Given the description of an element on the screen output the (x, y) to click on. 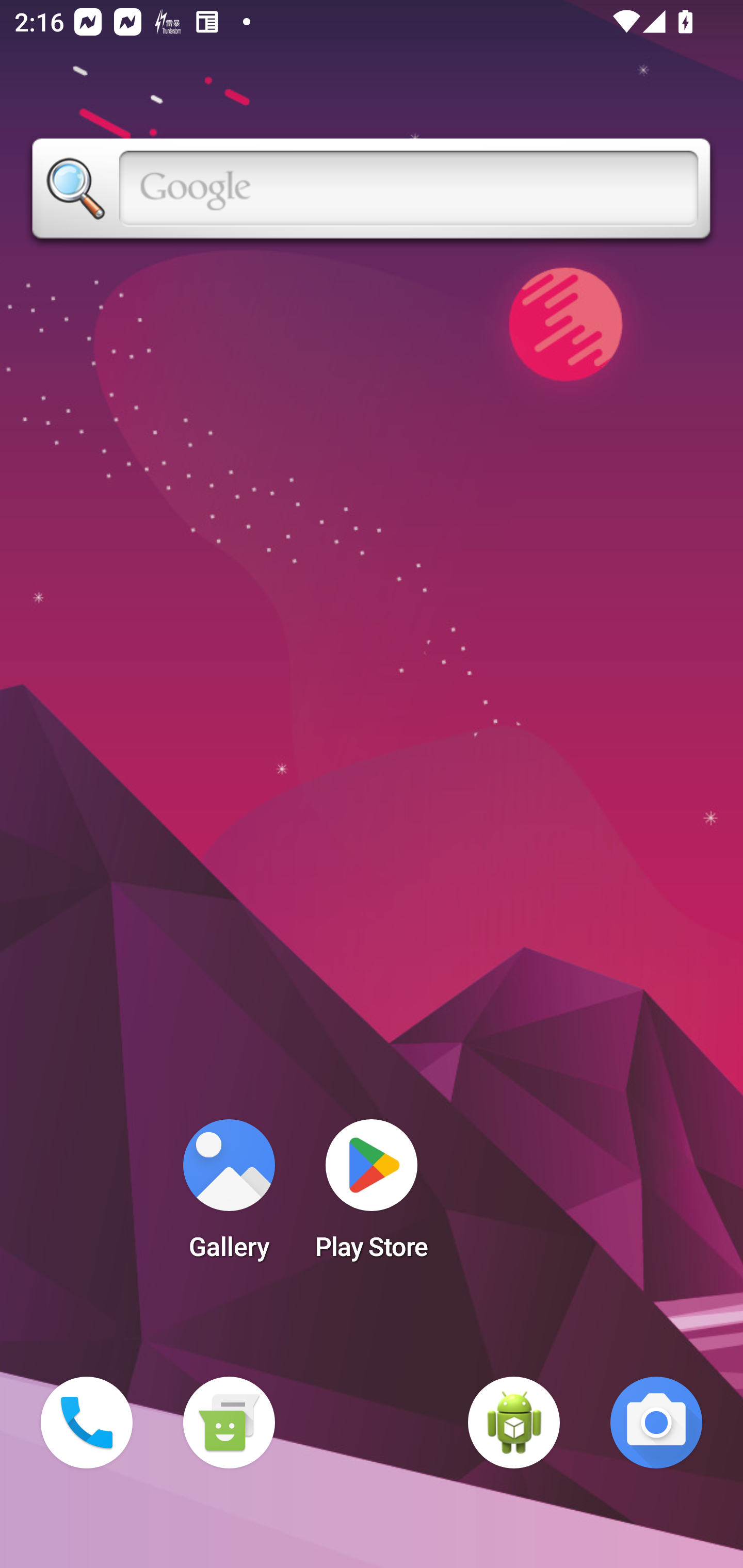
Gallery (228, 1195)
Play Store (371, 1195)
Phone (86, 1422)
Messaging (228, 1422)
WebView Browser Tester (513, 1422)
Camera (656, 1422)
